Given the description of an element on the screen output the (x, y) to click on. 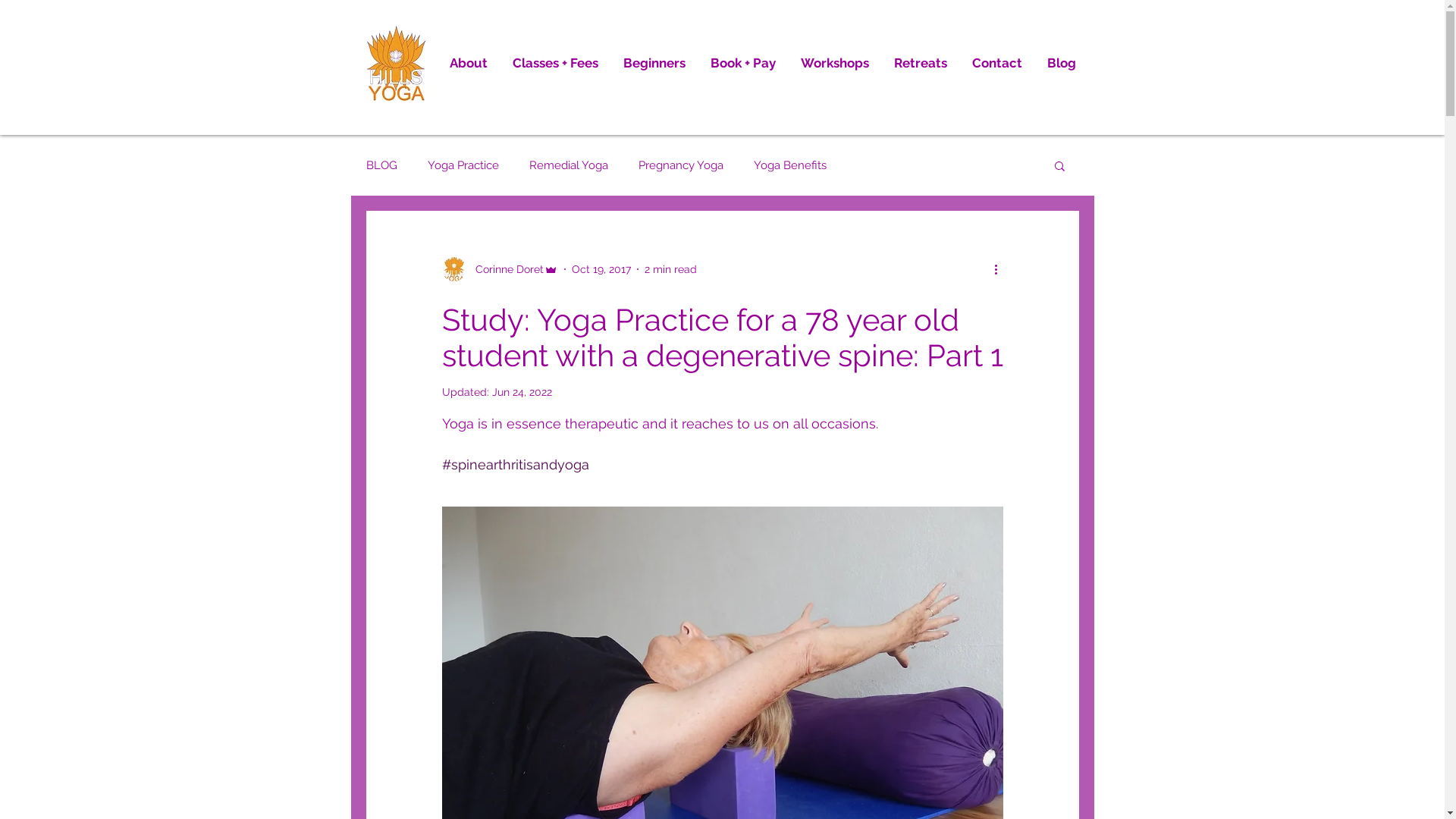
Beginners Element type: text (654, 62)
Workshops Element type: text (834, 62)
BLOG Element type: text (380, 165)
Pregnancy Yoga Element type: text (680, 165)
Retreats Element type: text (920, 62)
Contact Element type: text (997, 62)
Remedial Yoga Element type: text (568, 165)
Yoga Practice Element type: text (462, 165)
Book + Pay Element type: text (742, 62)
Blog Element type: text (1061, 62)
#spinearthritisandyoga Element type: text (514, 464)
Yoga Benefits Element type: text (789, 165)
